Given the description of an element on the screen output the (x, y) to click on. 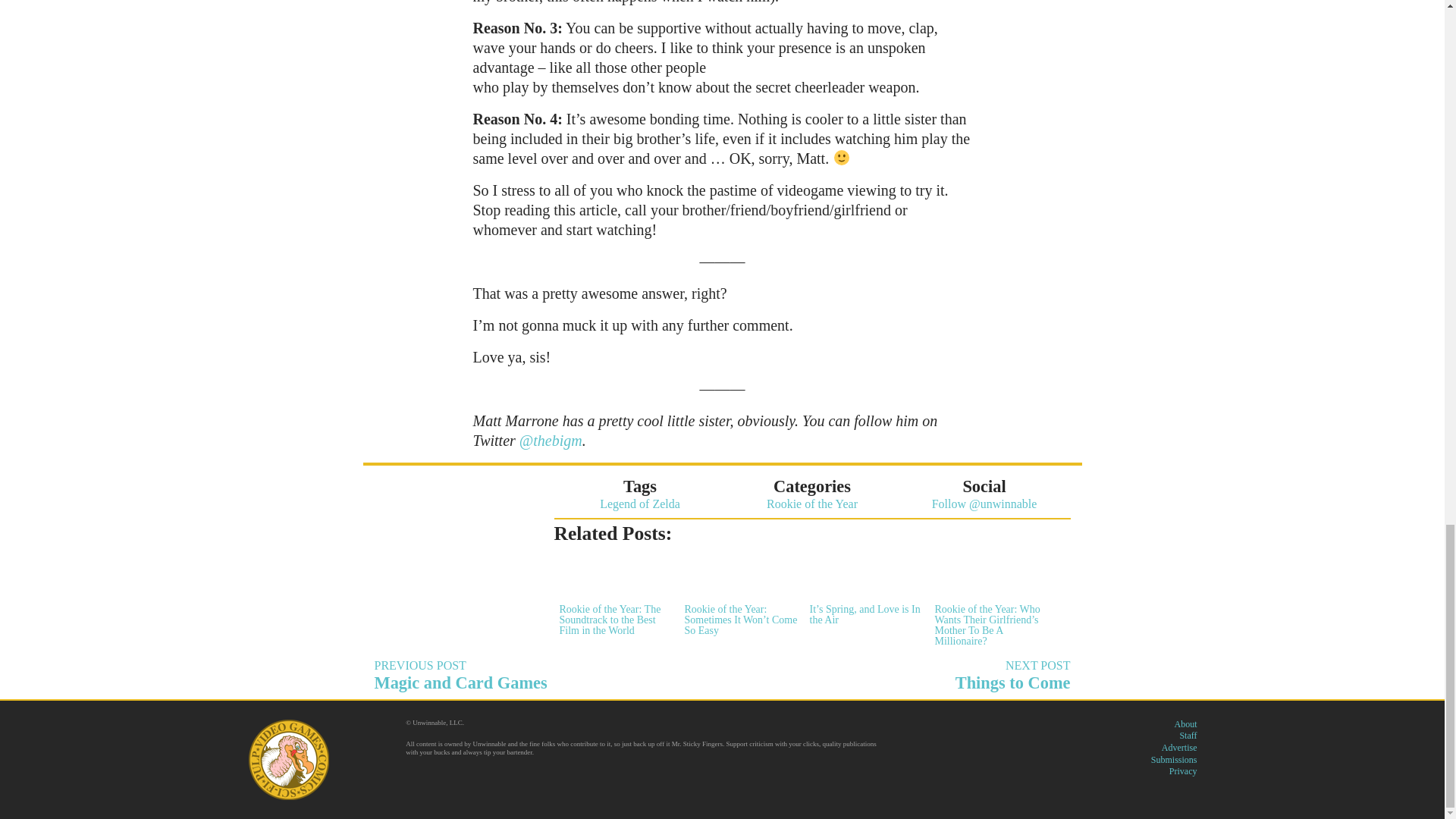
Matt Marrone on Twitter (550, 440)
Submissions (1173, 759)
Advertise (1178, 747)
About (1184, 724)
Legend of Zelda (639, 503)
Rookie of the Year (812, 503)
Privacy (1182, 770)
Staff (542, 675)
